Given the description of an element on the screen output the (x, y) to click on. 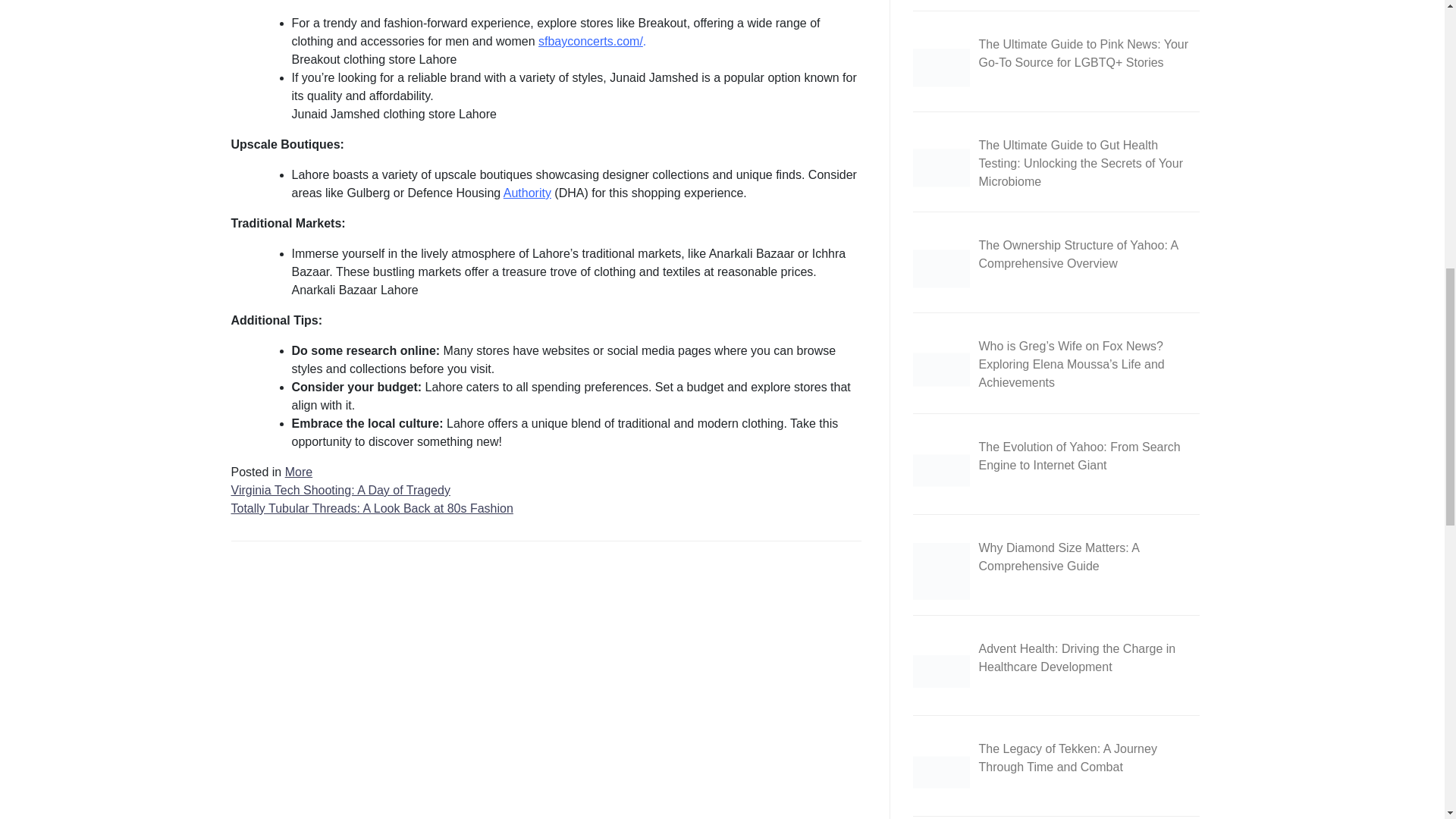
Diamond Size (940, 570)
Advent Health: Driving the Charge in Healthcare Development (940, 671)
The Legacy of Tekken: A Journey Through Time and Combat (940, 771)
The Ownership Structure of Yahoo: A Comprehensive Overview (940, 268)
The Evolution of Yahoo: From Search Engine to Internet Giant (940, 470)
Health (940, 167)
